Given the description of an element on the screen output the (x, y) to click on. 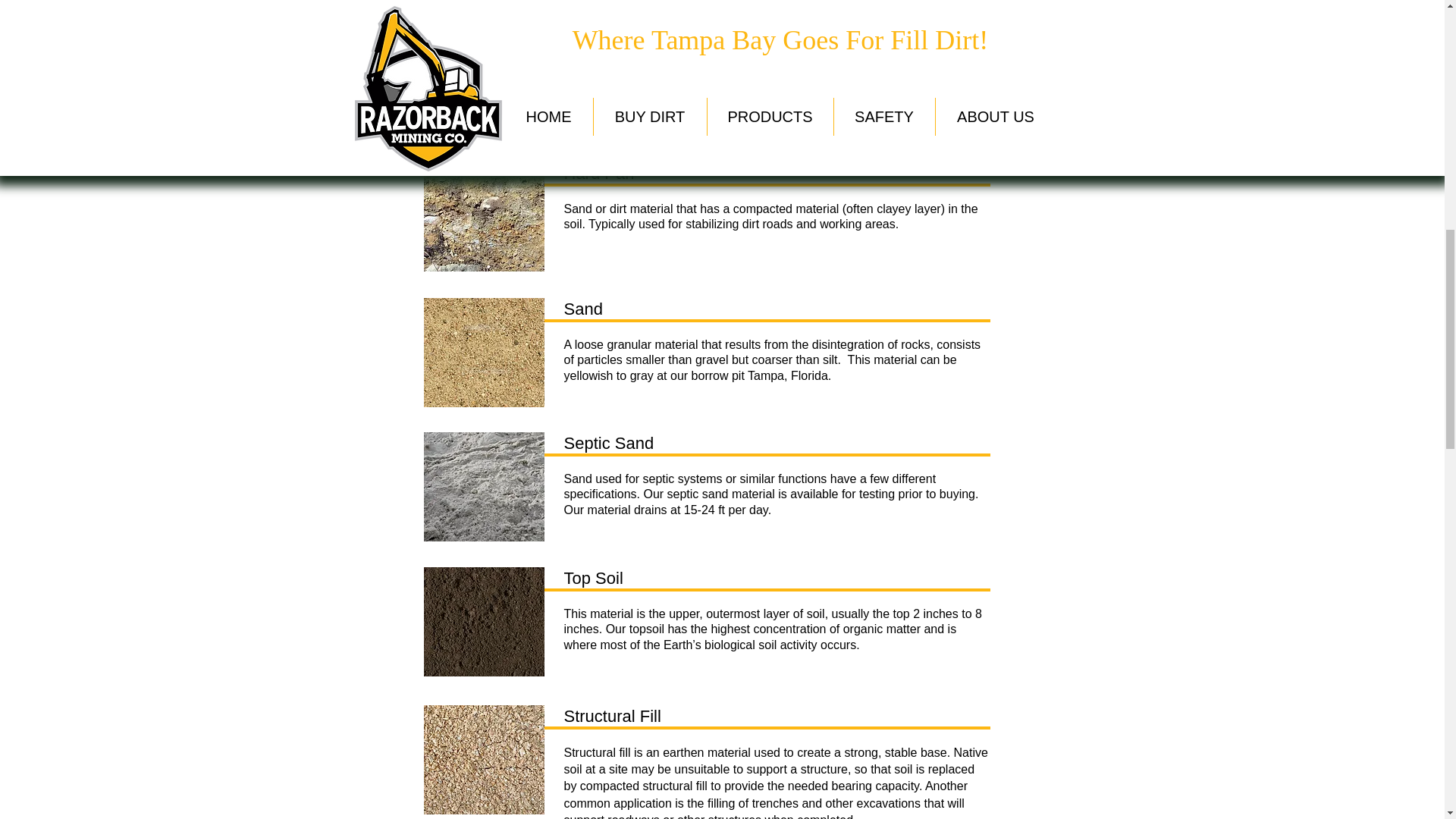
Tampa Bay Choice Top Soil material (483, 621)
Tampa Bay Structural Fill material (483, 759)
Tampa Bay FDOT A3 Fill Dirt material (483, 0)
Tampa Bay Septic Sand material (483, 486)
Tampa Bay FDOT Select MSE Wall material  (483, 80)
Florida Hard Pan material (483, 216)
Tampa Bay Sand material (483, 352)
